Given the description of an element on the screen output the (x, y) to click on. 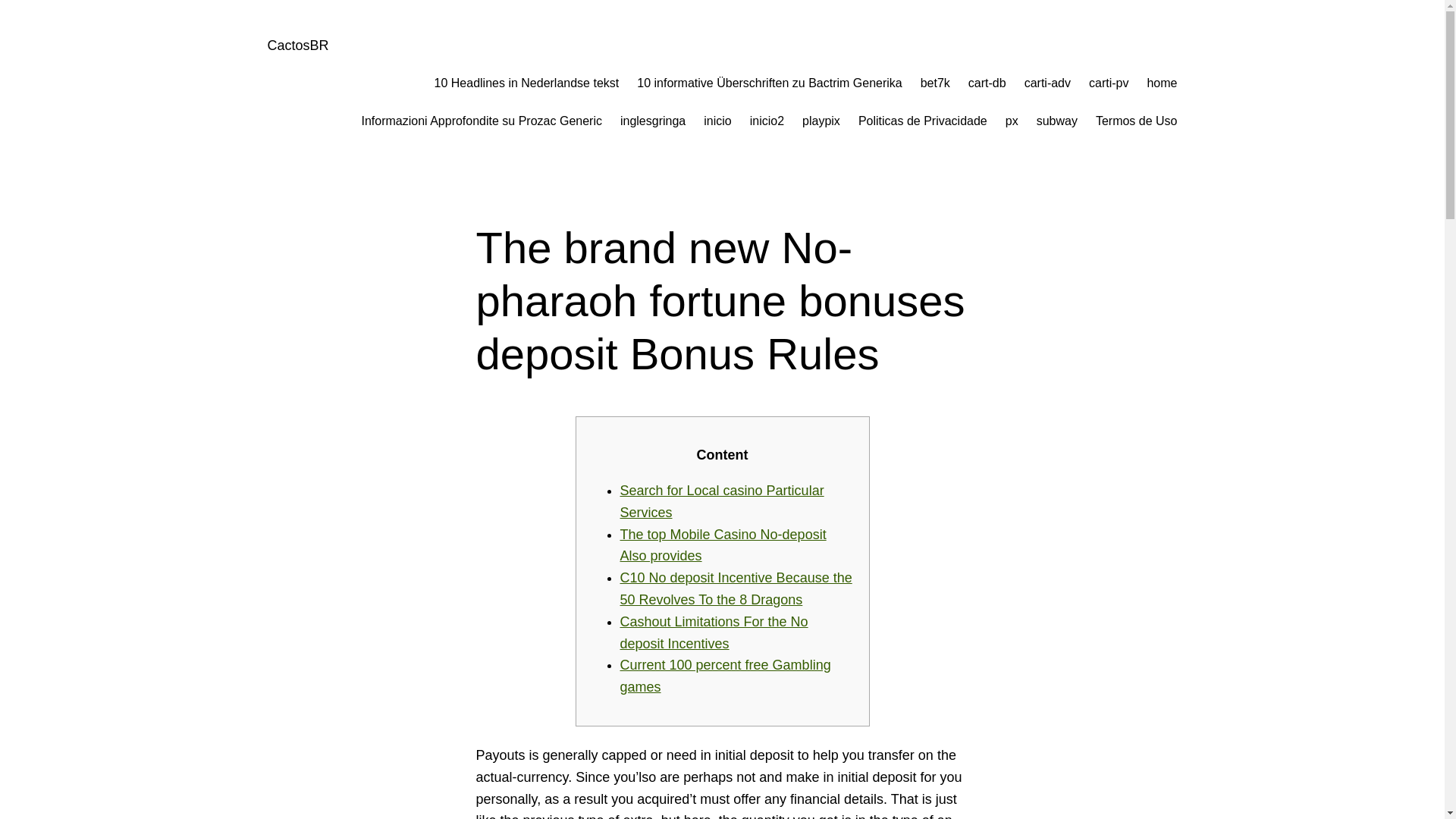
carti-adv (1047, 83)
Current 100 percent free Gambling games (725, 675)
cart-db (987, 83)
inglesgringa (652, 121)
10 Headlines in Nederlandse tekst (526, 83)
Cashout Limitations For the No deposit Incentives (714, 632)
Termos de Uso (1136, 121)
Informazioni Approfondite su Prozac Generic (481, 121)
inicio (716, 121)
CactosBR (297, 45)
